Given the description of an element on the screen output the (x, y) to click on. 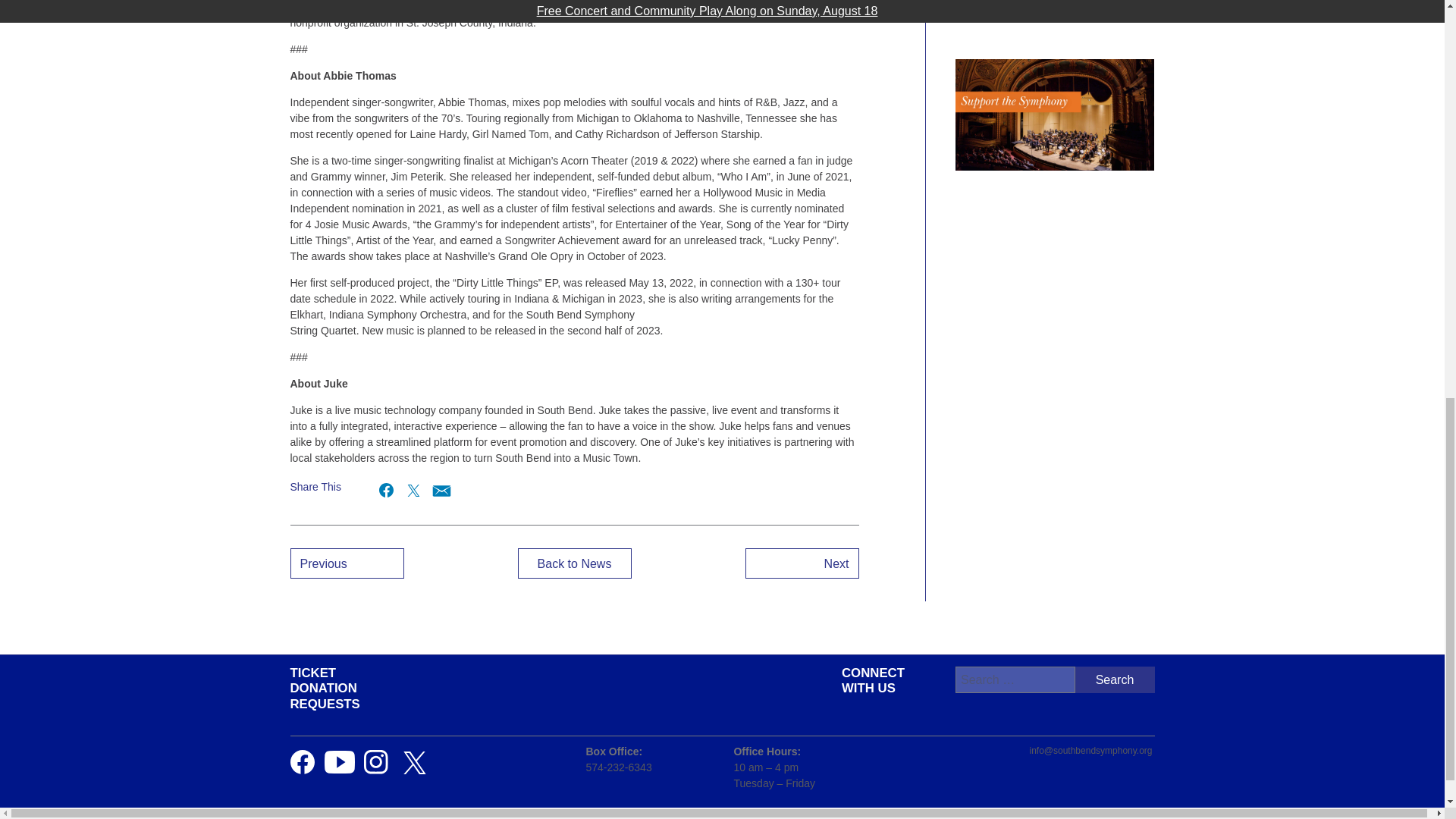
Search (1114, 679)
Share this on Facebook (386, 489)
Previous (346, 562)
Search (1114, 679)
Back to News (573, 562)
Next (801, 562)
Share this on Twitter (412, 489)
Share this via email (439, 489)
